Given the description of an element on the screen output the (x, y) to click on. 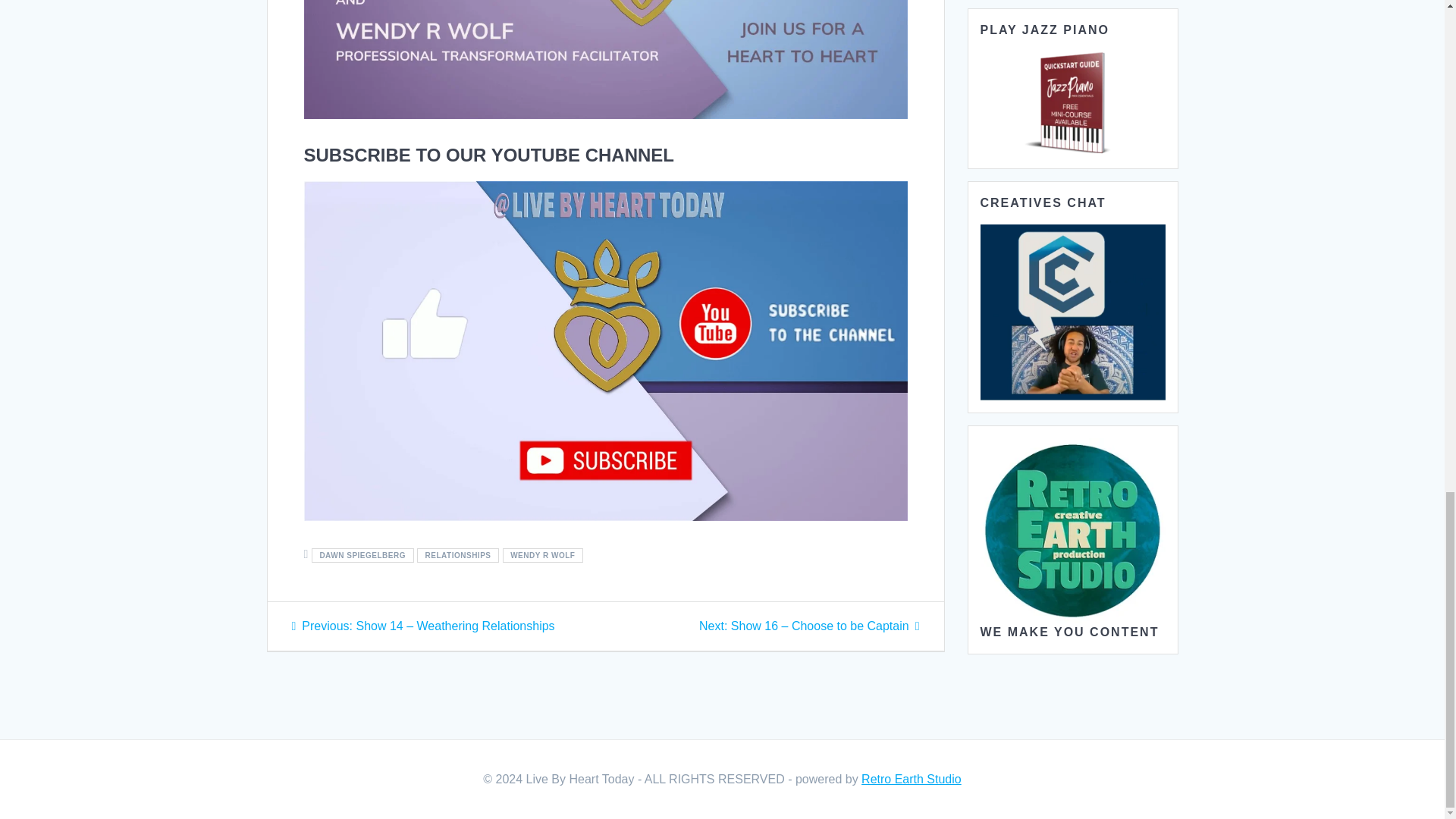
WENDY R WOLF (542, 554)
RELATIONSHIPS (457, 554)
DAWN SPIEGELBERG (362, 554)
JOIN OUR FACEBOOK GROUP (604, 59)
